Given the description of an element on the screen output the (x, y) to click on. 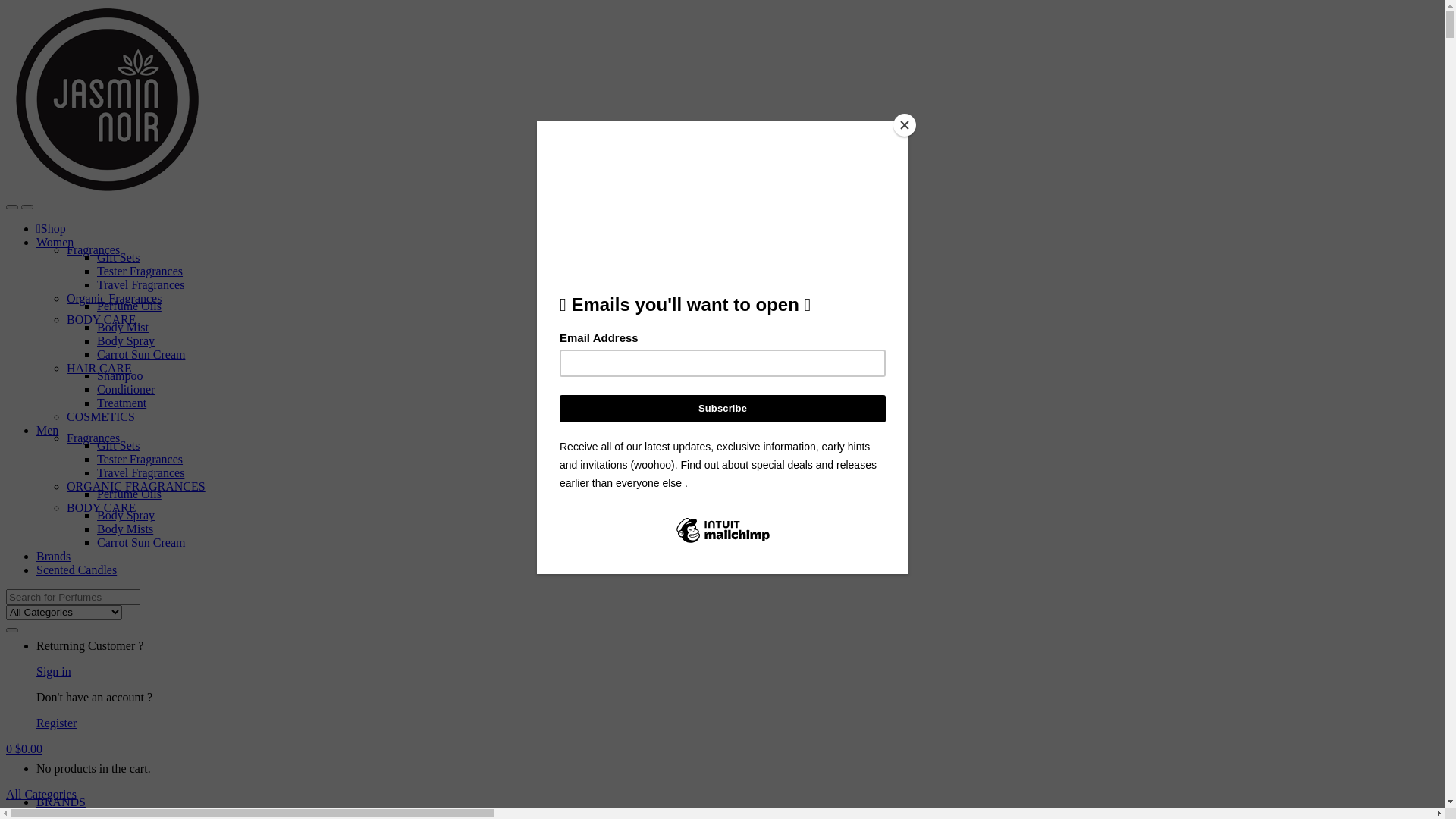
Women Element type: text (54, 241)
Travel Fragrances Element type: text (140, 472)
Tester Fragrances Element type: text (139, 458)
Scented Candles Element type: text (76, 569)
HAIR CARE Element type: text (98, 367)
Tester Fragrances Element type: text (139, 270)
Organic Fragrances Element type: text (113, 297)
Carrot Sun Cream Element type: text (141, 354)
Shop Element type: text (50, 228)
Body Mist Element type: text (122, 326)
Shampoo Element type: text (119, 375)
Carrot Sun Cream Element type: text (141, 542)
Register Element type: text (56, 722)
Sign in Element type: text (53, 671)
Conditioner Element type: text (125, 388)
Body Mists Element type: text (125, 528)
BODY CARE Element type: text (100, 319)
All Categories Element type: text (41, 793)
0 $0.00 Element type: text (24, 748)
Body Spray Element type: text (125, 340)
BRANDS Element type: text (60, 801)
ORGANIC FRAGRANCES Element type: text (135, 486)
Perfume Oils Element type: text (129, 305)
Treatment Element type: text (121, 402)
Gift Sets Element type: text (118, 257)
Travel Fragrances Element type: text (140, 284)
Men Element type: text (47, 429)
Body Spray Element type: text (125, 514)
Fragrances Element type: text (92, 249)
Fragrances Element type: text (92, 437)
Brands Element type: text (53, 555)
Skip to navigation Element type: text (5, 5)
COSMETICS Element type: text (100, 416)
BODY CARE Element type: text (100, 507)
Gift Sets Element type: text (118, 445)
Perfume Oils Element type: text (129, 493)
